Given the description of an element on the screen output the (x, y) to click on. 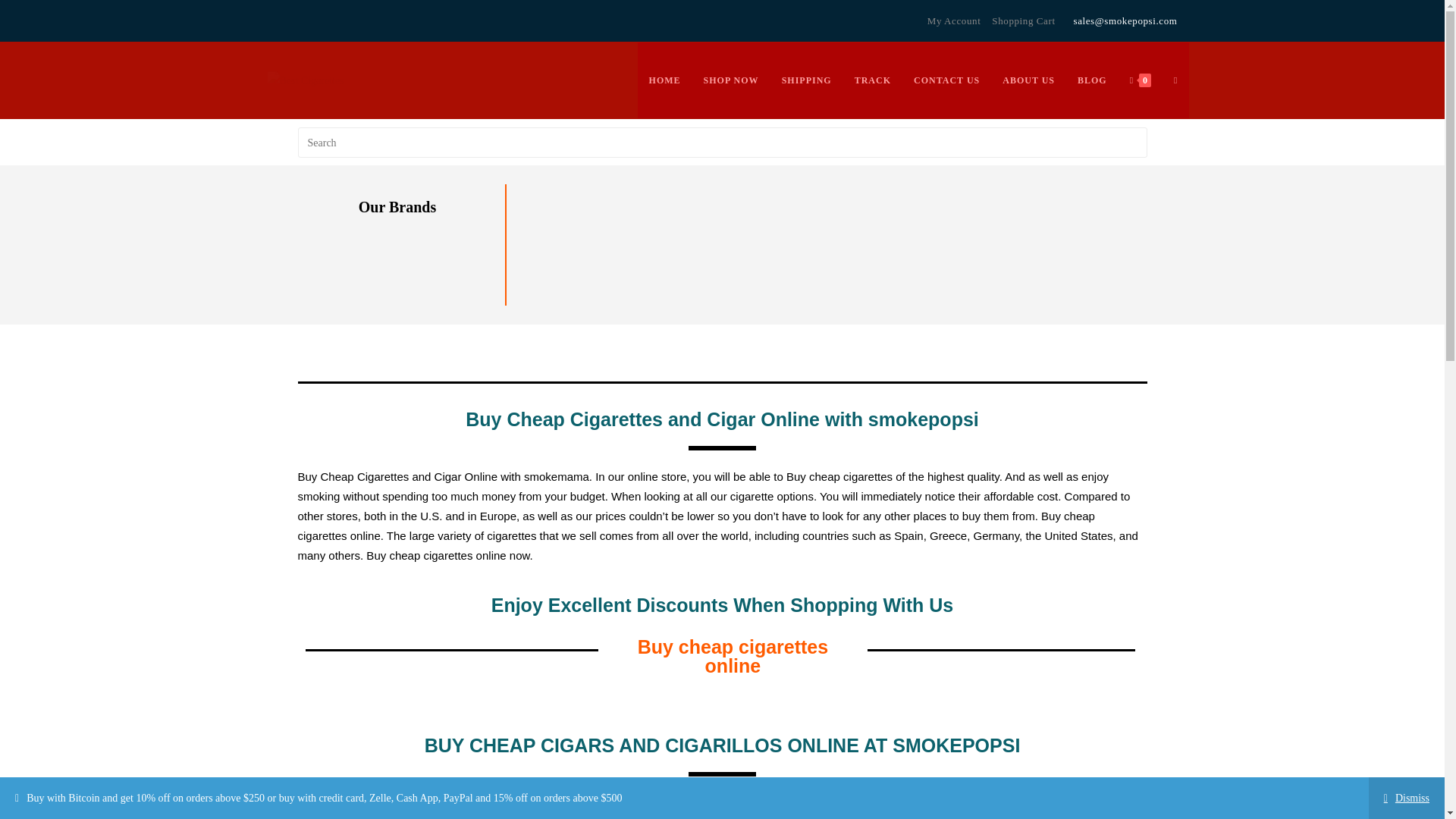
My Account (954, 20)
0 (1139, 79)
Shopping Cart (1022, 20)
SHIPPING (806, 79)
TRACK (872, 79)
HOME (665, 79)
ABOUT US (1028, 79)
SHOP NOW (731, 79)
CONTACT US (946, 79)
BLOG (1091, 79)
